Given the description of an element on the screen output the (x, y) to click on. 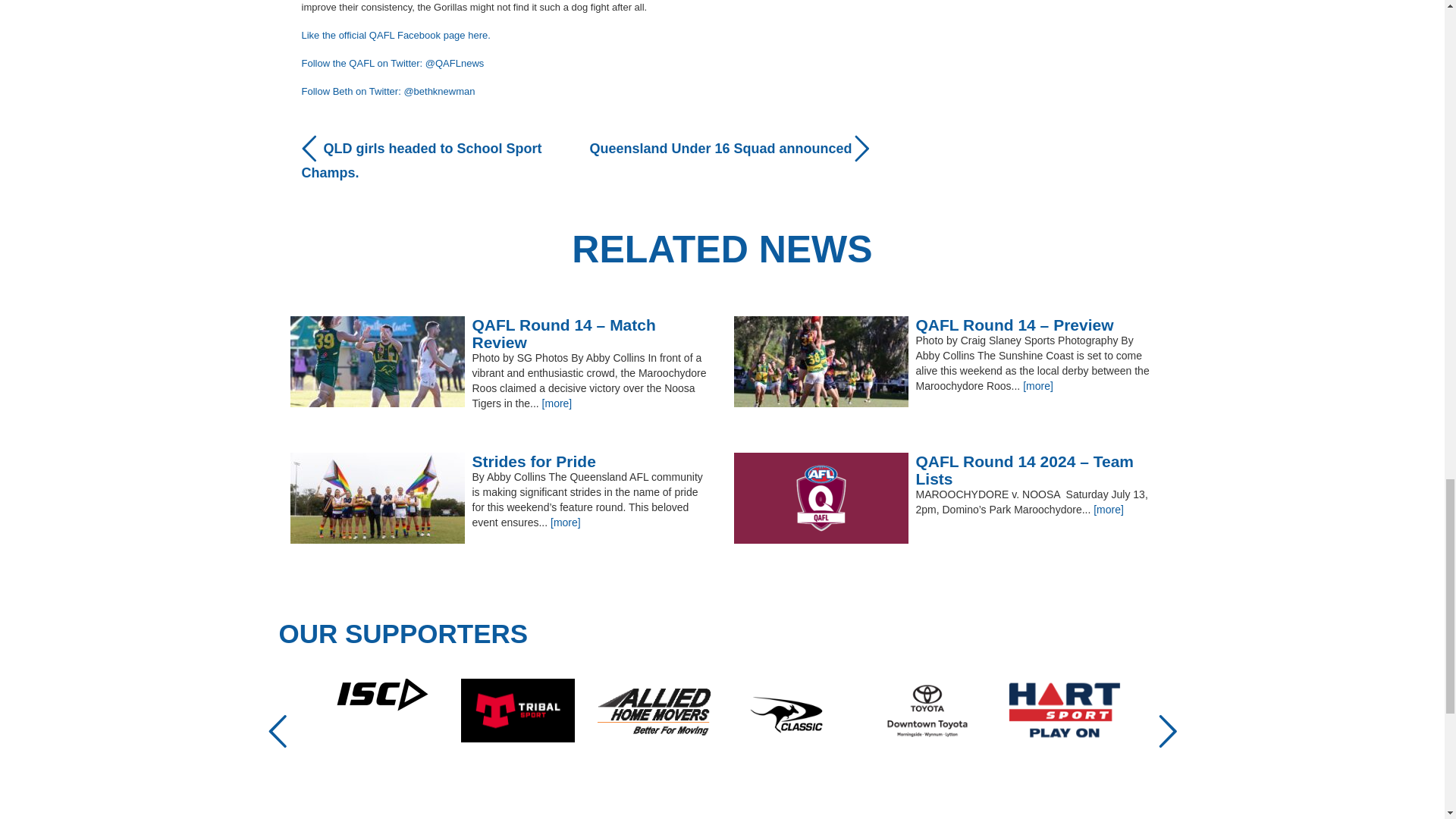
Strides for Pride (499, 461)
